Given the description of an element on the screen output the (x, y) to click on. 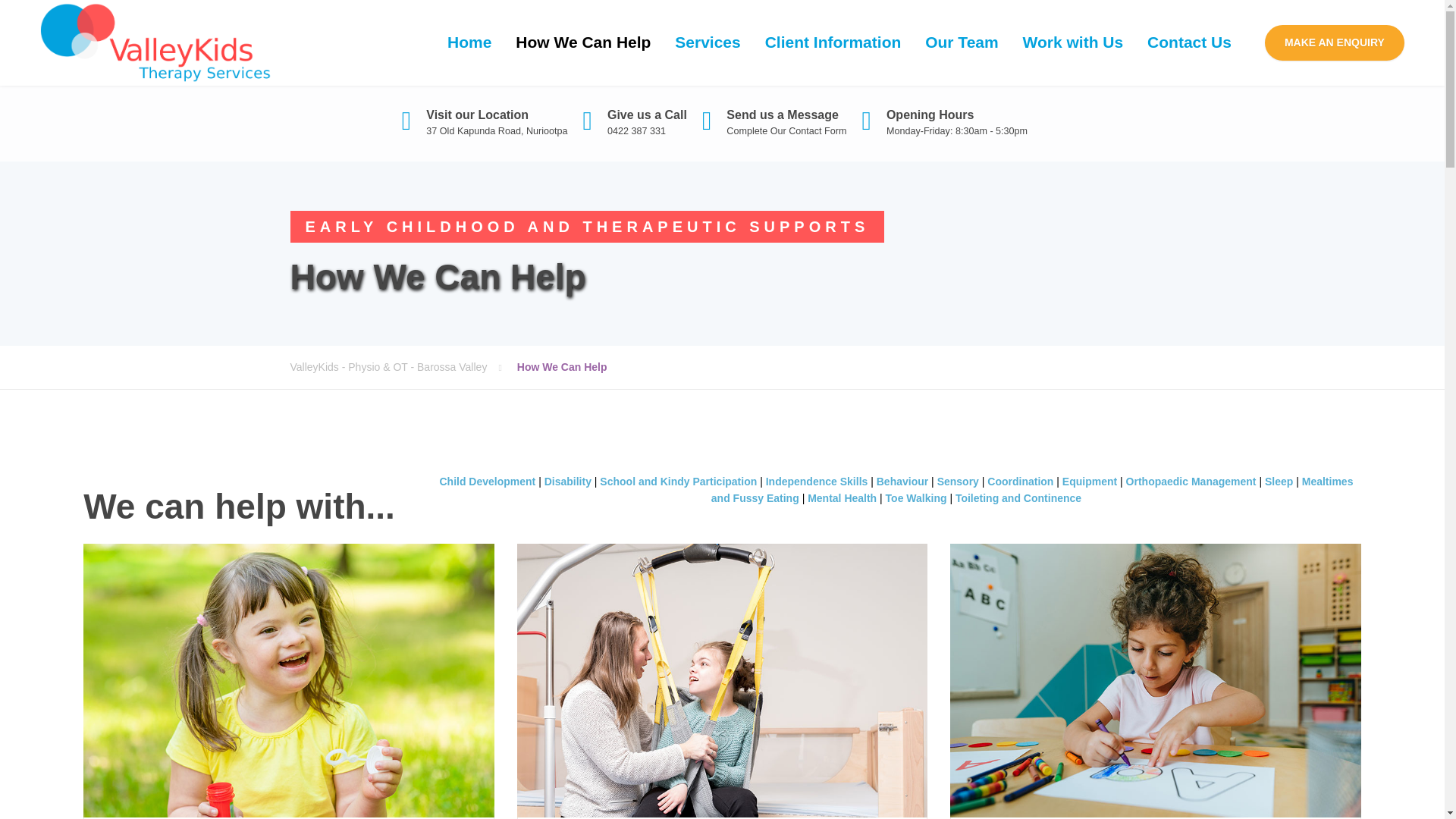
Services (707, 42)
School and Kindy Participation (678, 481)
Contact Us (1189, 42)
Our Team (961, 42)
Sensory (959, 481)
Coordination (1019, 481)
Orthopaedic Management (1190, 481)
Home (469, 42)
Sleep (1278, 481)
Independence Skills (816, 481)
Client Information (833, 42)
Mealtimes and Fussy Eating (1032, 489)
Work with Us (1072, 42)
MAKE AN ENQUIRY (1335, 42)
Disability (569, 481)
